Given the description of an element on the screen output the (x, y) to click on. 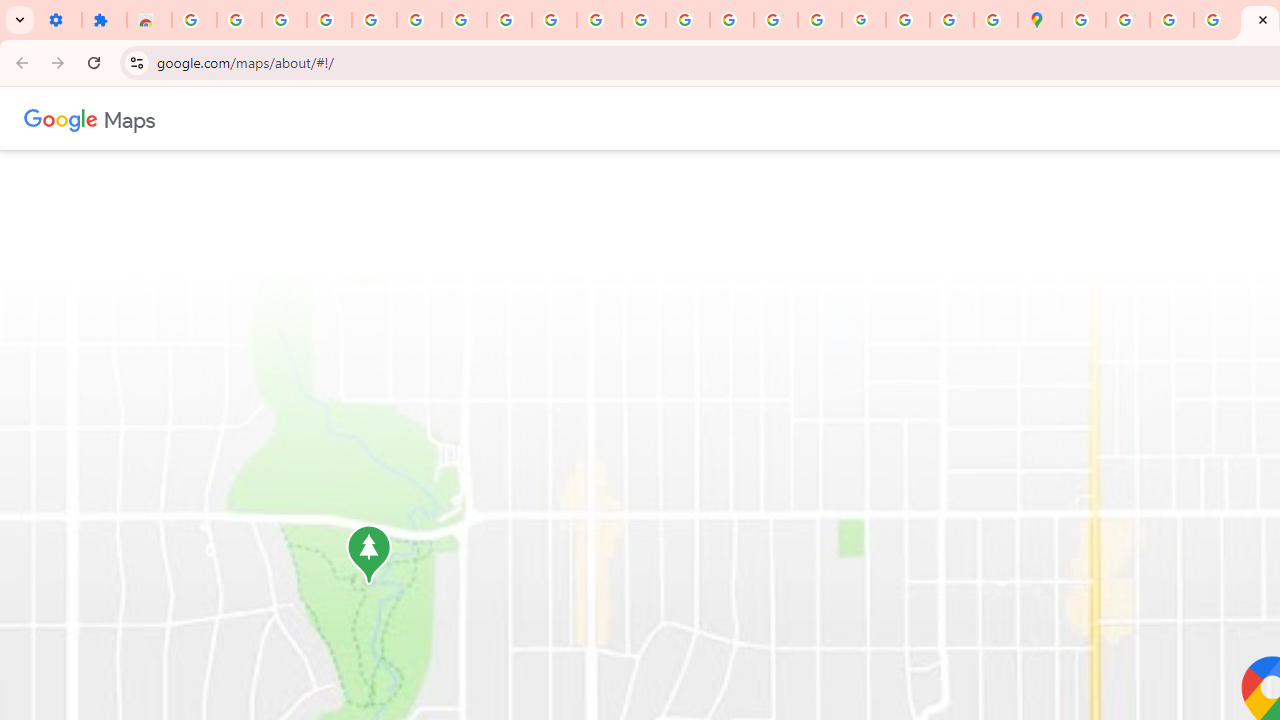
Skip to Content (264, 115)
Sign in - Google Accounts (374, 20)
Reviews: Helix Fruit Jump Arcade Game (148, 20)
YouTube (509, 20)
https://scholar.google.com/ (599, 20)
Google (61, 118)
Delete photos & videos - Computer - Google Photos Help (239, 20)
Maps (129, 118)
